Given the description of an element on the screen output the (x, y) to click on. 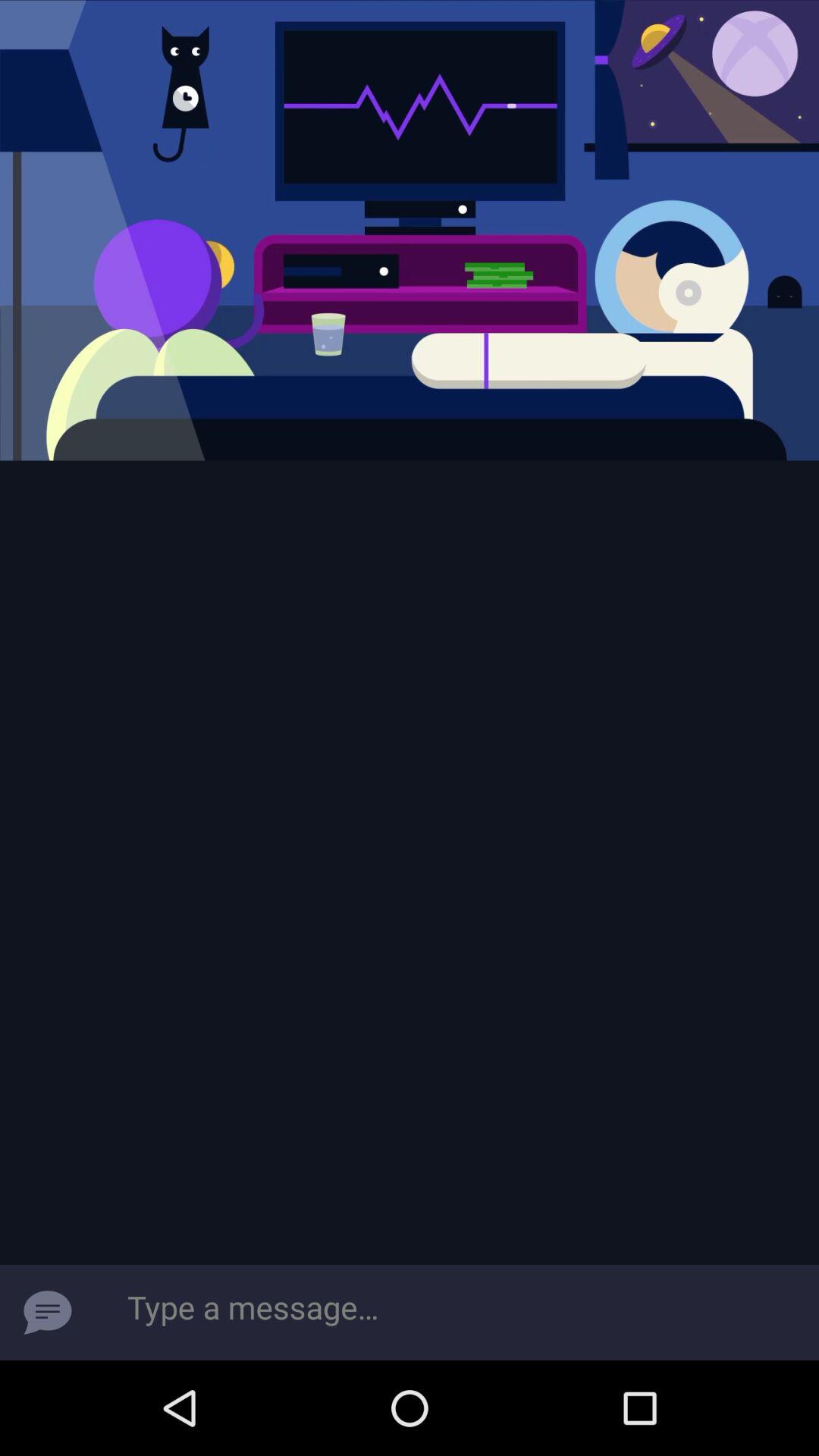
type a message (457, 1312)
